Given the description of an element on the screen output the (x, y) to click on. 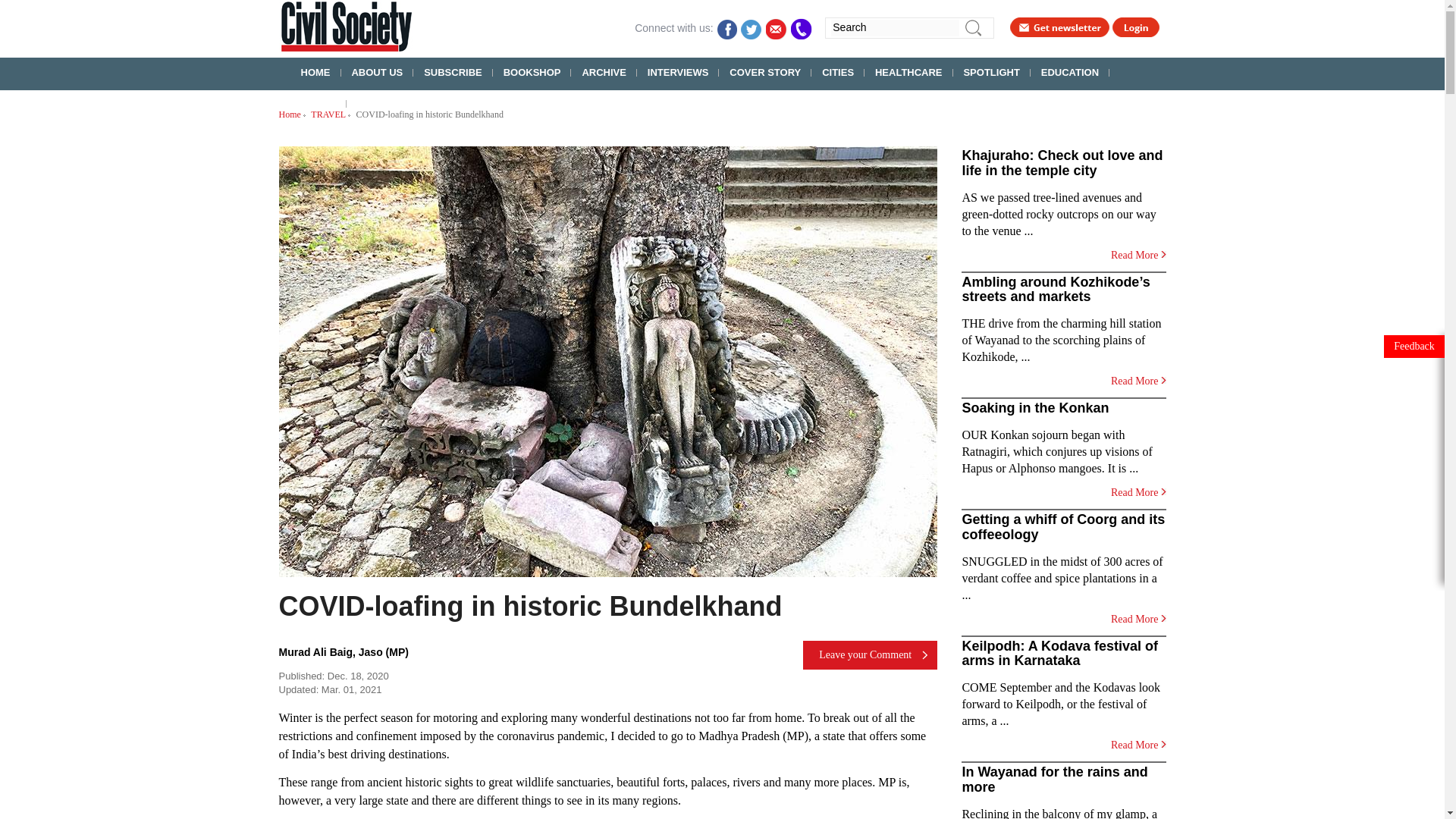
email (776, 28)
Leave your Comment (870, 654)
call (801, 28)
twitter (751, 28)
facebook (727, 28)
